Given the description of an element on the screen output the (x, y) to click on. 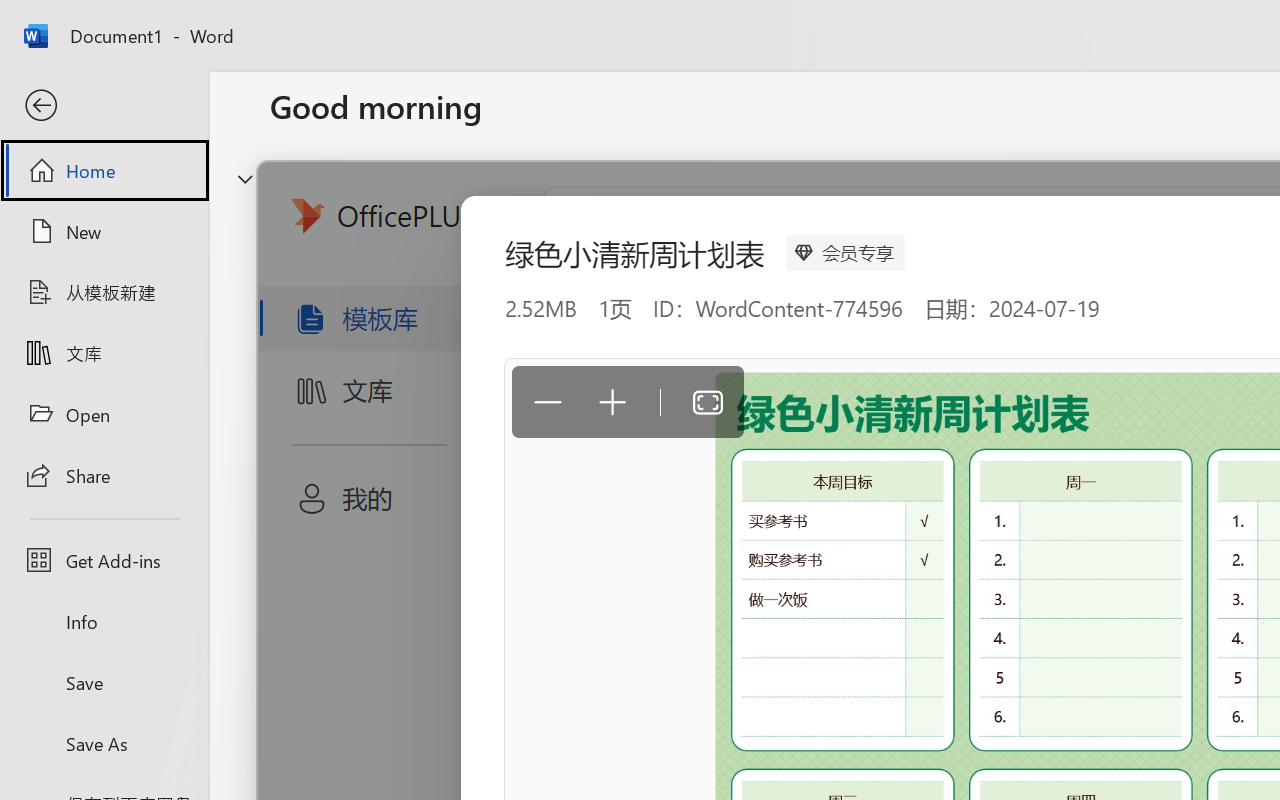
Back (104, 106)
Pinned (417, 636)
